Given the description of an element on the screen output the (x, y) to click on. 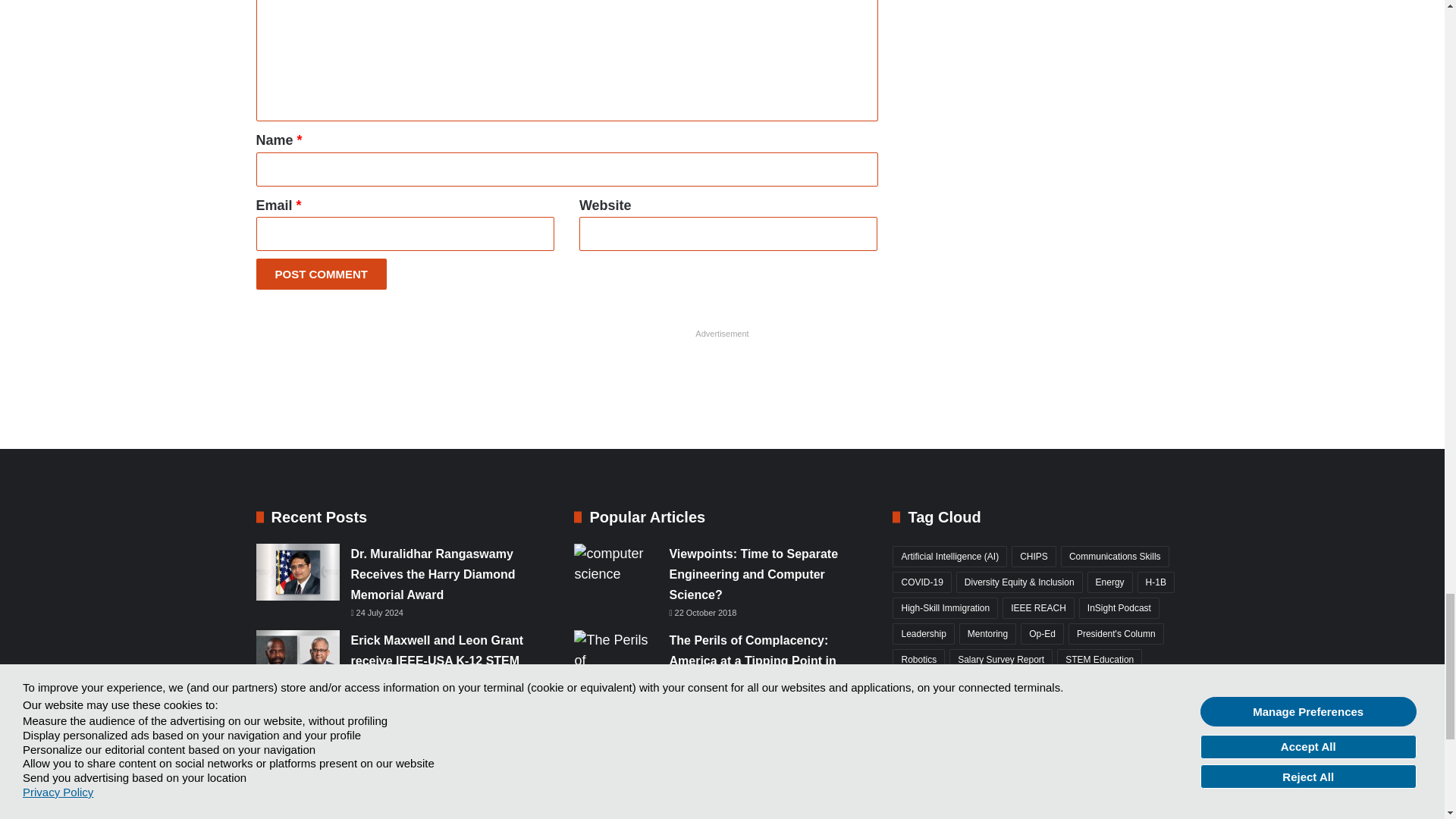
Post Comment (321, 273)
